Given the description of an element on the screen output the (x, y) to click on. 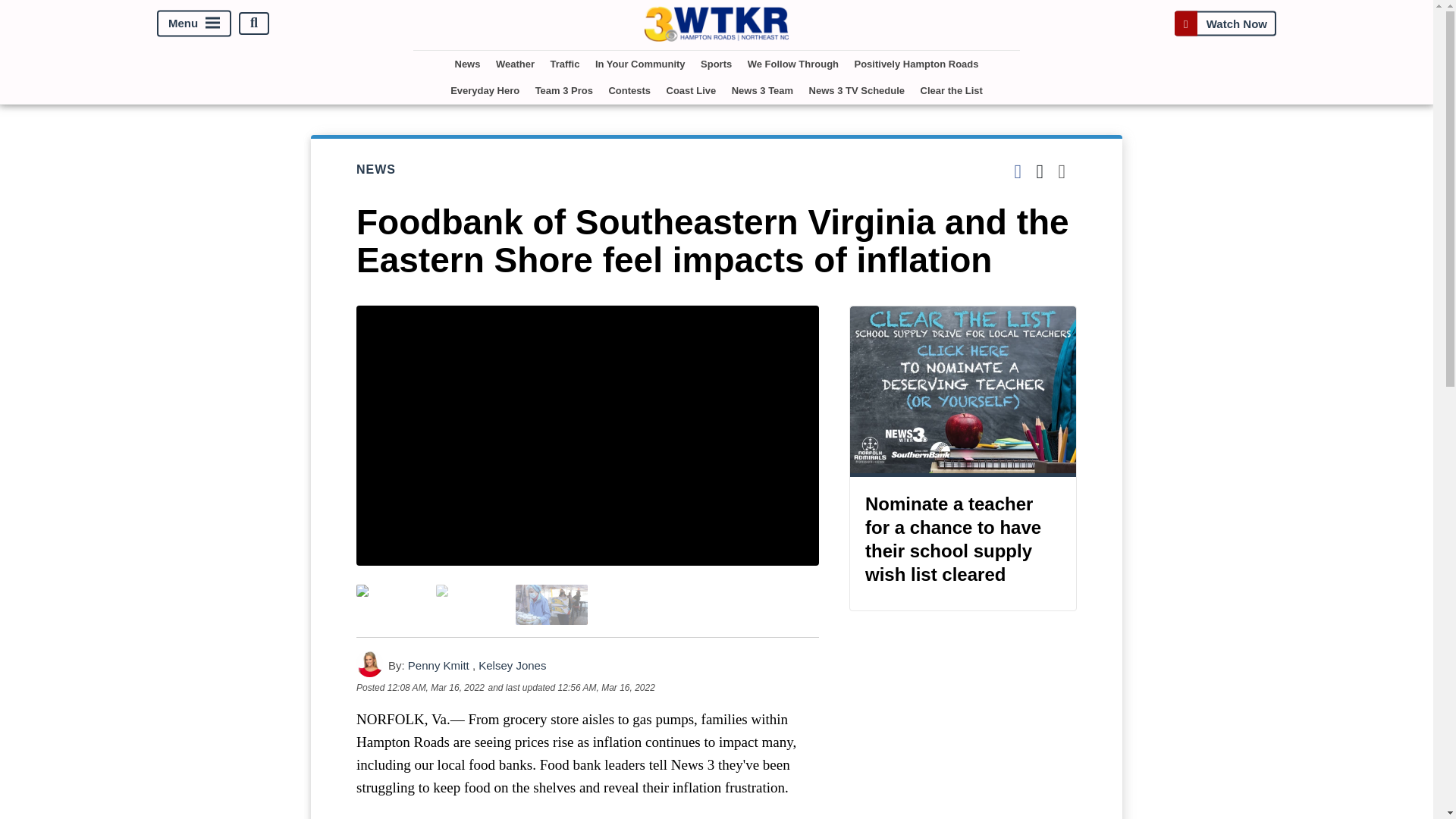
Watch Now (1224, 22)
Menu (194, 22)
